Given the description of an element on the screen output the (x, y) to click on. 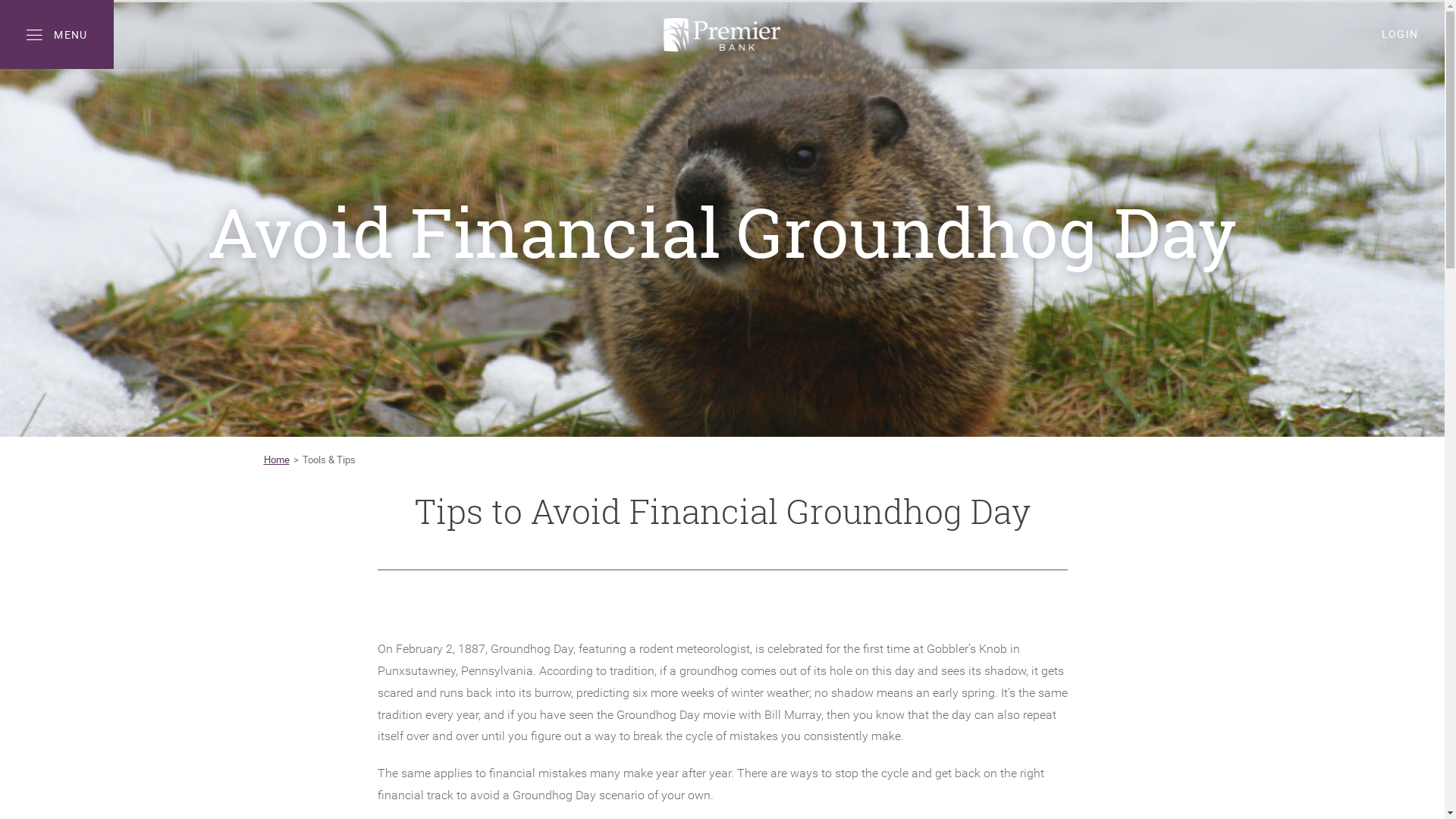
Premier Bank, Dubuque, Iowa Element type: hover (721, 34)
Home Element type: text (276, 459)
